Given the description of an element on the screen output the (x, y) to click on. 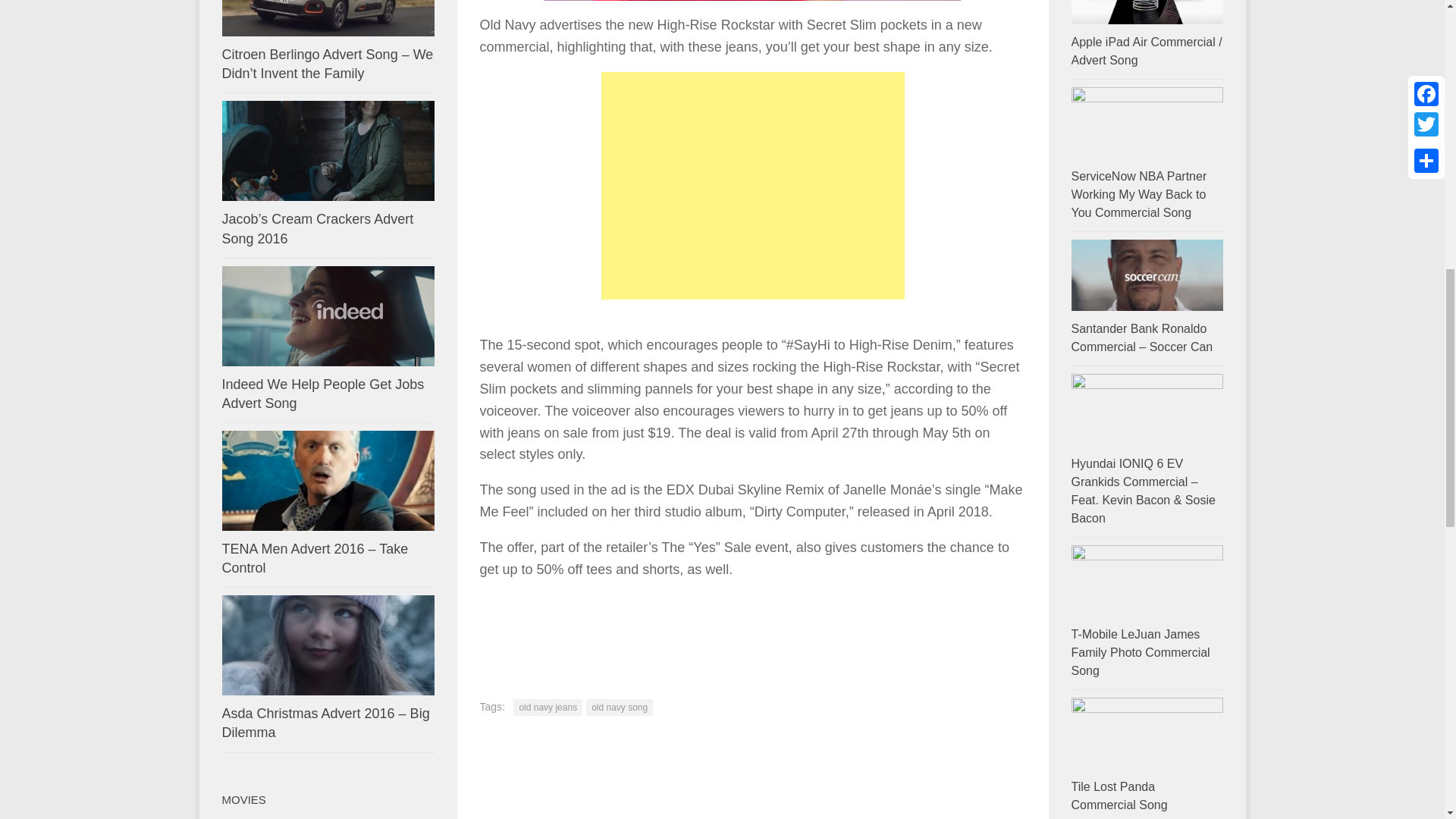
old navy song (619, 707)
Indeed We Help People Get Jobs Advert Song (327, 316)
old navy jeans (547, 707)
Indeed We Help People Get Jobs Advert Song (322, 393)
Indeed We Help People Get Jobs Advert Song (322, 393)
